Given the description of an element on the screen output the (x, y) to click on. 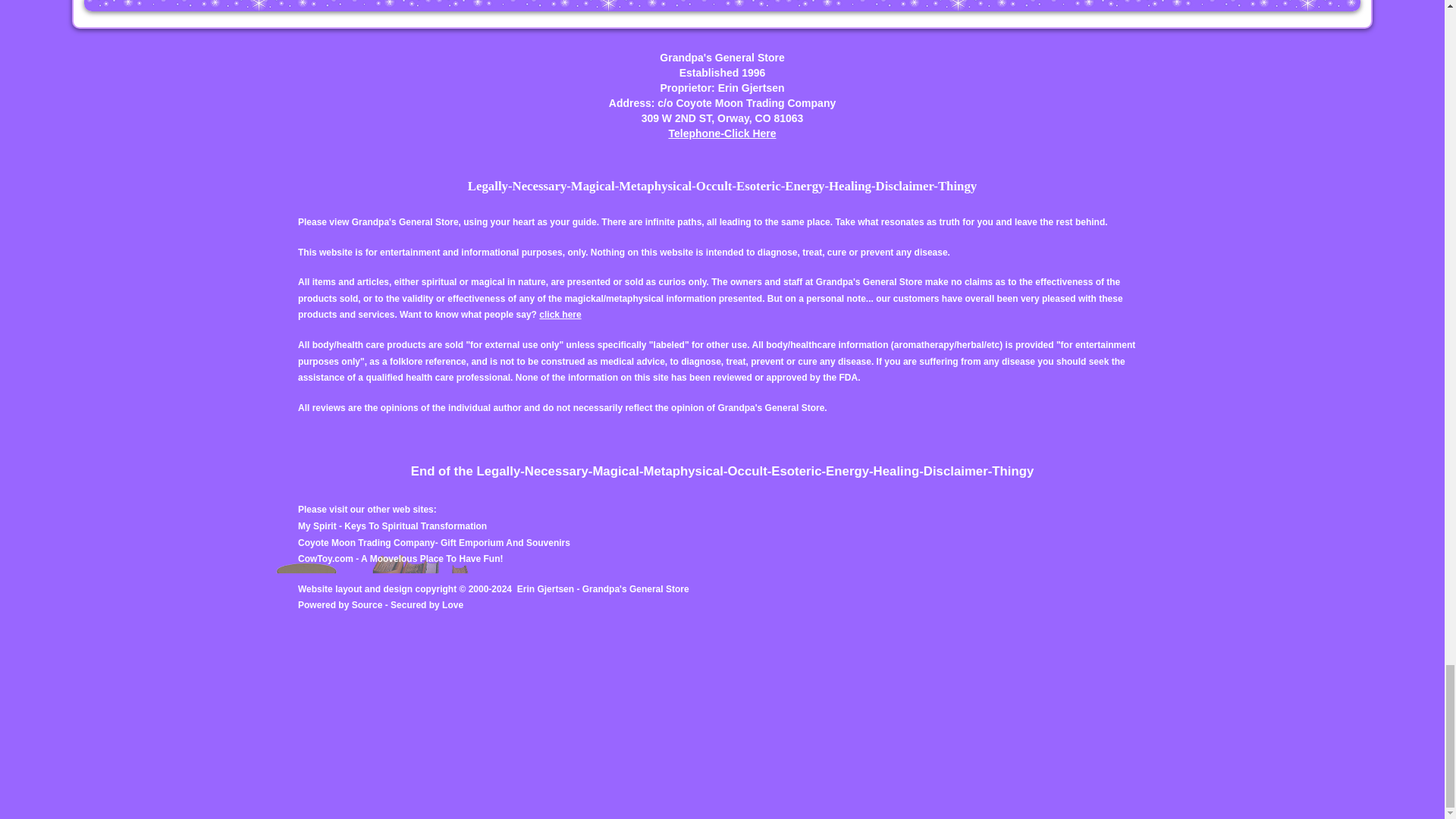
Coyote Moon Trading Company (366, 542)
My Spirit (318, 525)
Erin Gjertsen - Grandpa's General Store (602, 588)
click here (559, 314)
CowToy.com (326, 558)
Telephone-Click Here (722, 133)
